Given the description of an element on the screen output the (x, y) to click on. 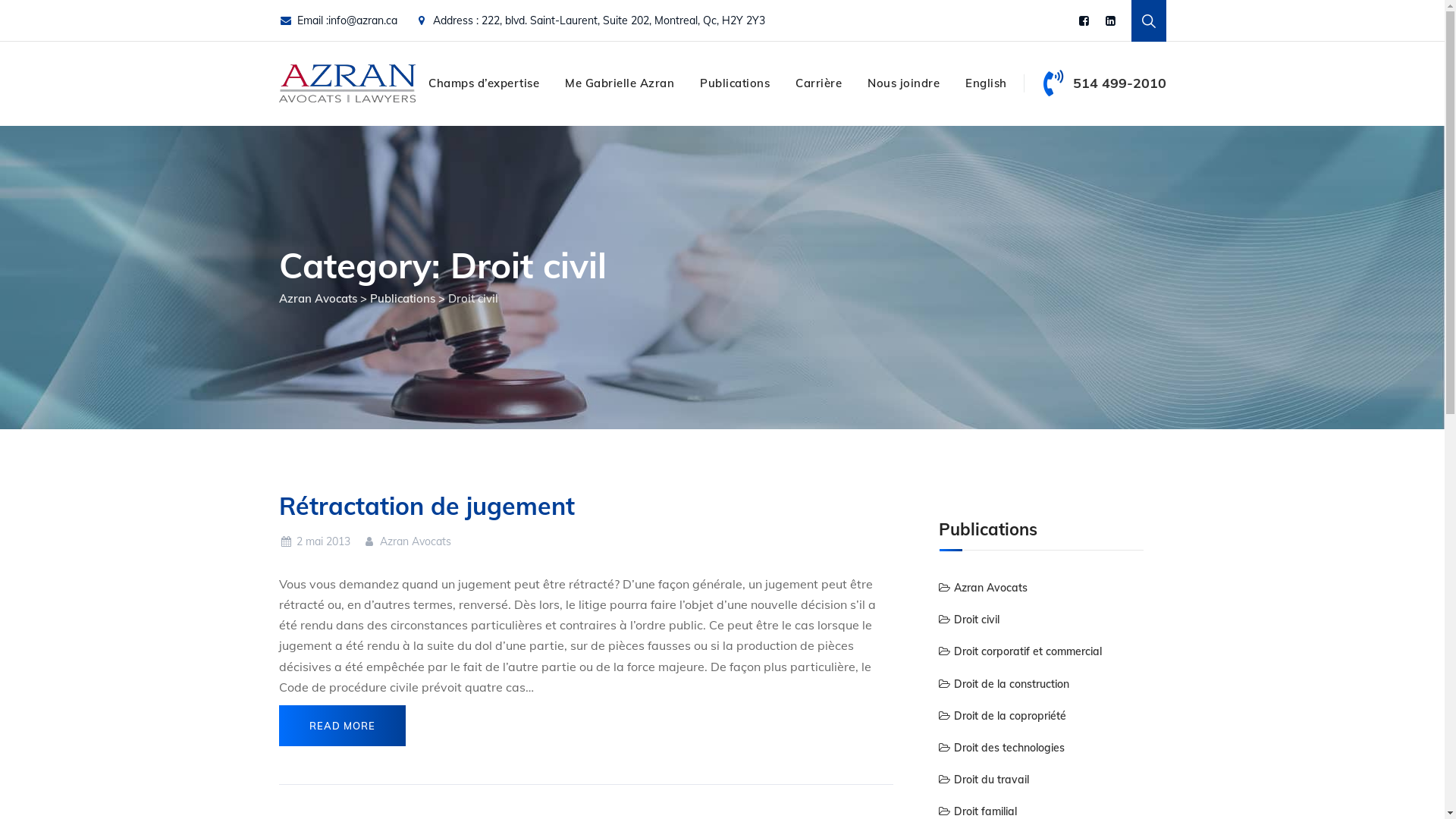
Azran Avocats Element type: text (982, 587)
Droit des technologies Element type: text (1001, 747)
Azran Avocats Element type: text (406, 541)
Droit civil Element type: text (968, 619)
2 mai 2013 Element type: text (315, 541)
Droit familial Element type: text (977, 811)
Nous joindre Element type: text (903, 83)
Publications Element type: text (402, 298)
Azran Avocats Element type: text (318, 298)
Droit corporatif et commercial Element type: text (1019, 651)
514 499-2010 Element type: text (1118, 83)
Publications Element type: text (734, 83)
Droit du travail Element type: text (983, 779)
Azran Avocats Element type: hover (347, 81)
READ MORE Element type: text (342, 725)
Droit de la construction Element type: text (1003, 683)
Me Gabrielle Azran Element type: text (619, 83)
info@azran.ca Element type: text (362, 20)
English Element type: text (986, 83)
